Given the description of an element on the screen output the (x, y) to click on. 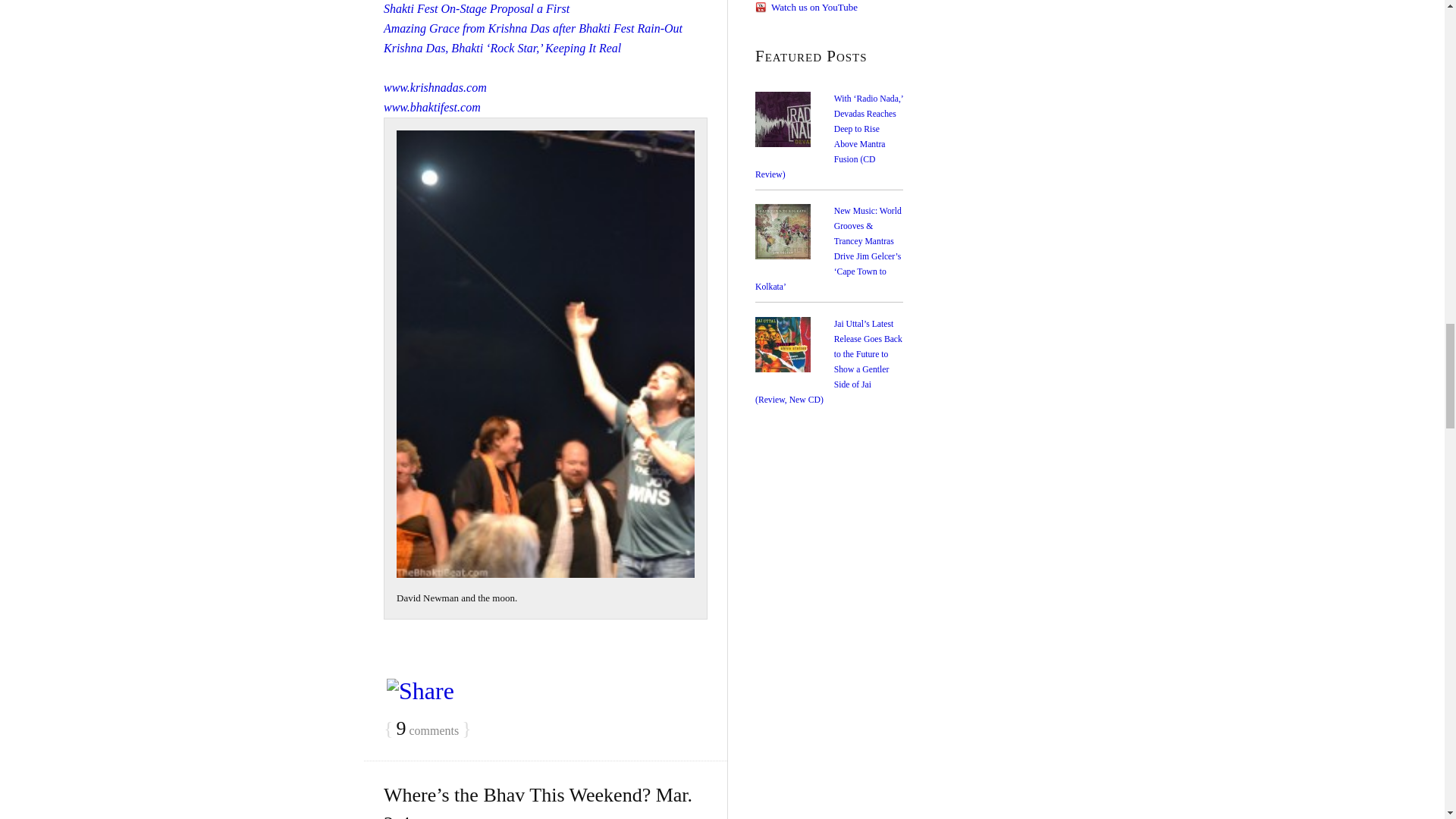
Shakti Fest On-Stage Proposal a First (476, 8)
www.krishnadas.com (435, 87)
Bhakti Fest Midwest Day 3-slr 764 (545, 354)
www.bhaktifest.com (432, 106)
Amazing Grace from Krishna Das after Bhakti Fest Rain-Out (533, 28)
9 comments (427, 730)
Shakti Fest On-Stage Proposal A First (476, 8)
Amazing Grace by Krishna Das after Bhakti Fest Rain-Out (533, 28)
